Given the description of an element on the screen output the (x, y) to click on. 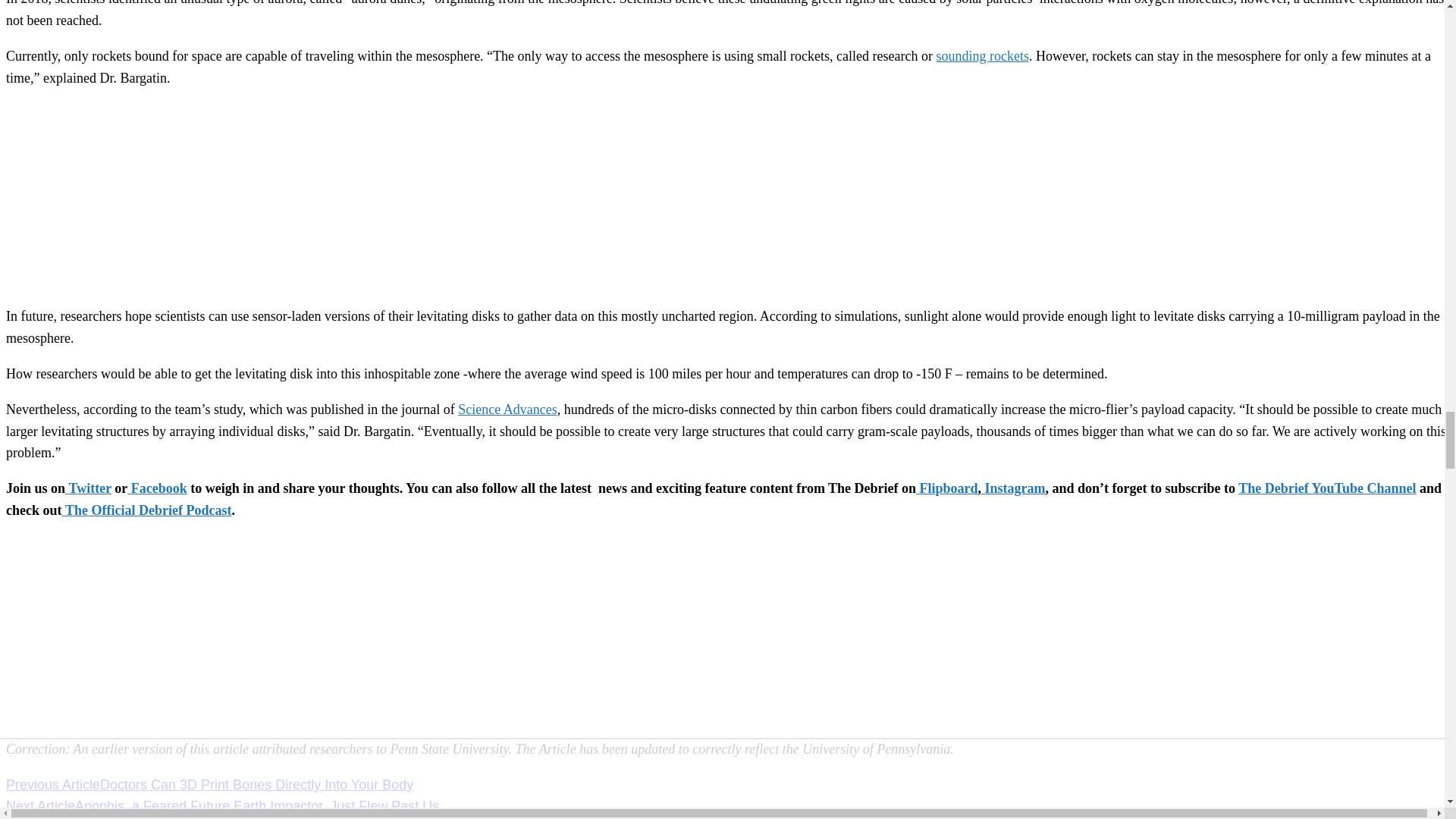
Instagram (1013, 488)
The Official Debrief Podcast (146, 509)
Science Advances (507, 409)
Apophis, a Feared Future Earth Impactor, Just Flew Past Us (257, 806)
Twitter (88, 488)
Facebook (157, 488)
Flipboard (946, 488)
Next Article (40, 806)
sounding rockets (981, 55)
Doctors Can 3D Print Bones Directly Into Your Body (256, 784)
The Debrief YouTube Channel (1327, 488)
Previous Article (52, 784)
